Given the description of an element on the screen output the (x, y) to click on. 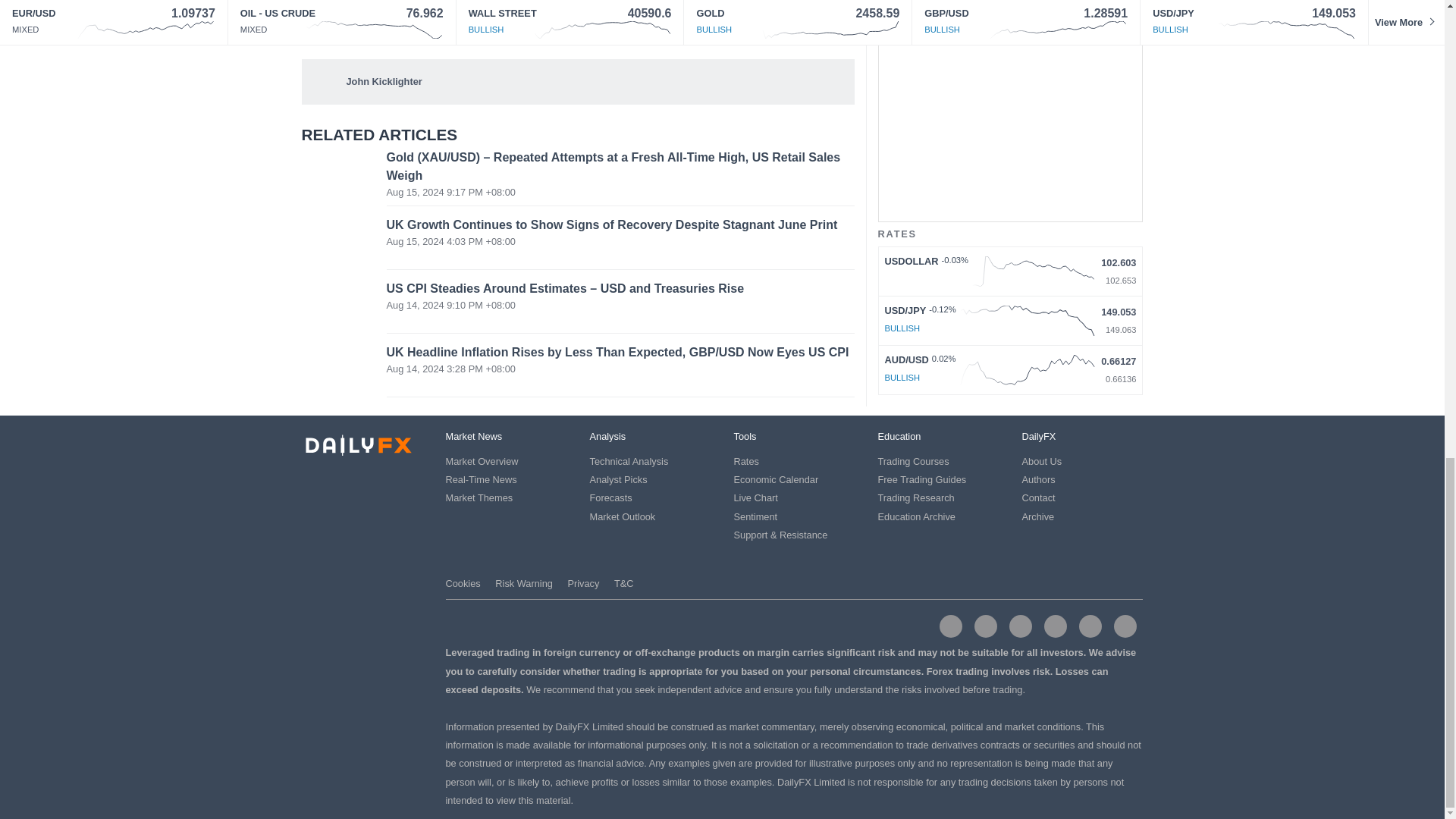
Tools (745, 436)
Market Overview (481, 460)
Economic Calendar (775, 479)
Technical Analysis (628, 460)
Rates (745, 460)
Market Themes (479, 497)
Analysis (607, 436)
Real-Time News (480, 479)
Live Chart (755, 497)
Forecasts (610, 497)
